Given the description of an element on the screen output the (x, y) to click on. 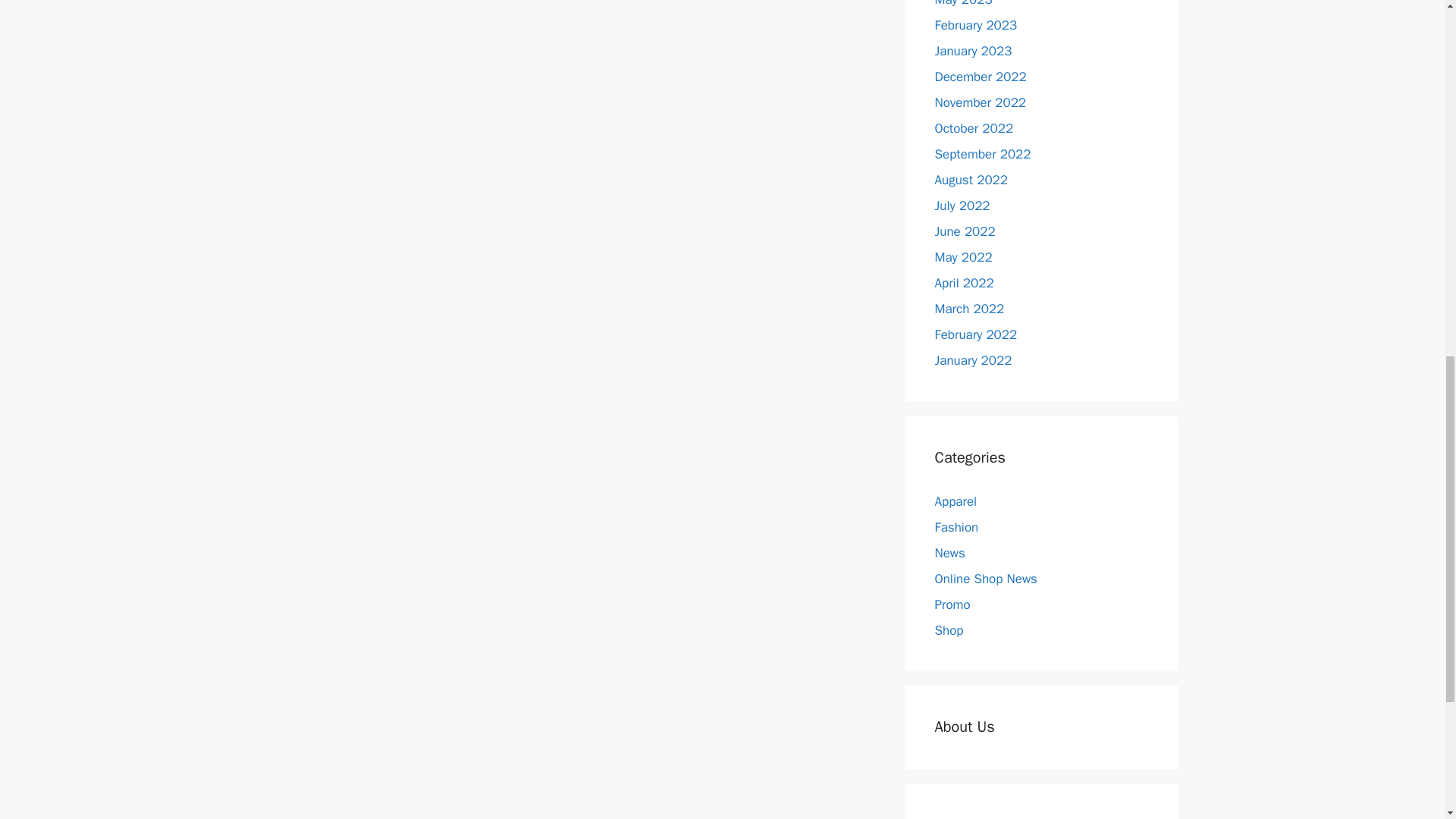
February 2023 (975, 25)
October 2022 (973, 128)
July 2022 (962, 205)
January 2023 (972, 50)
November 2022 (980, 102)
May 2023 (962, 3)
June 2022 (964, 231)
December 2022 (980, 76)
August 2022 (970, 179)
September 2022 (982, 154)
